Given the description of an element on the screen output the (x, y) to click on. 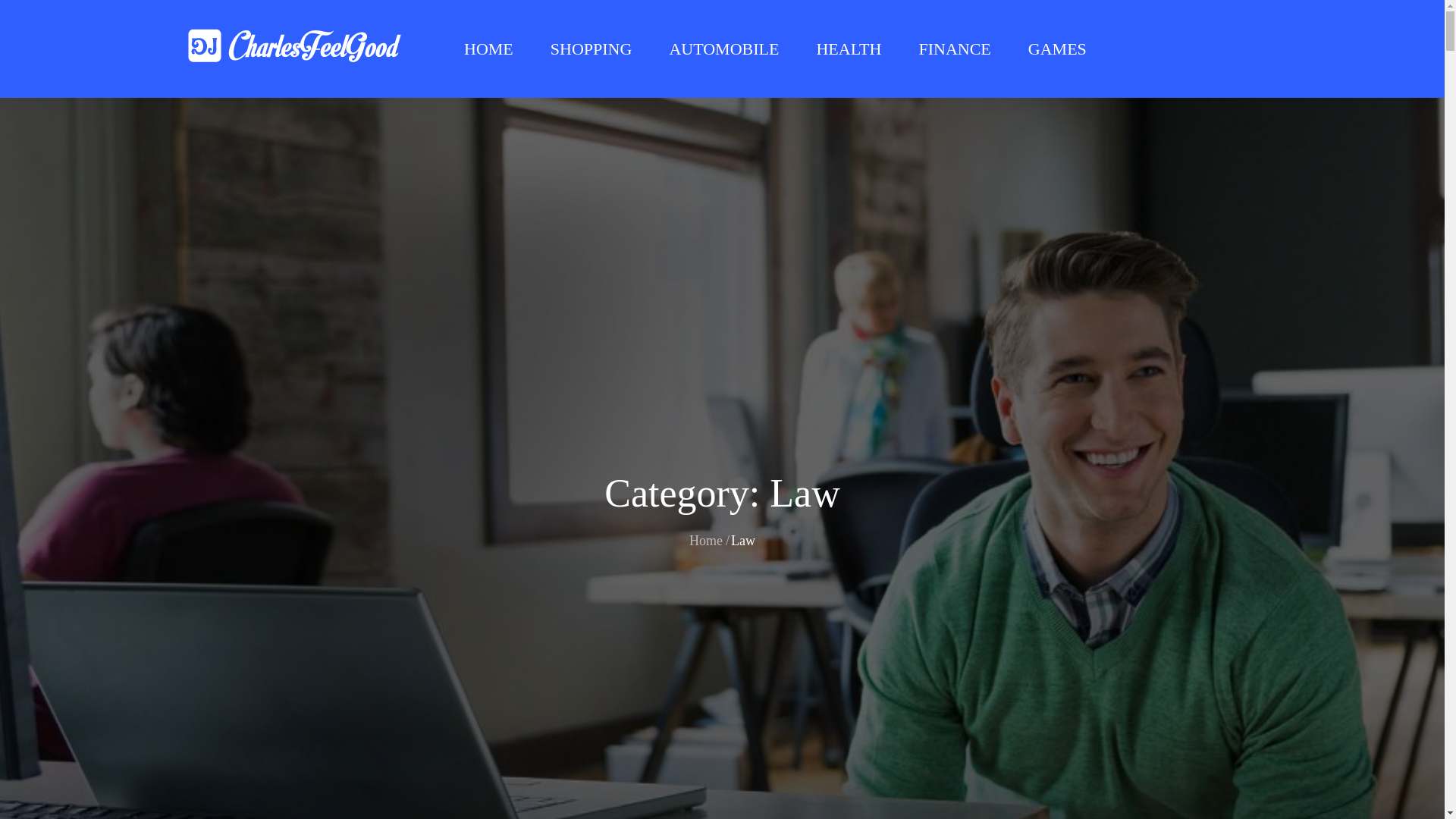
Home (705, 540)
AUTOMOBILE (723, 48)
GAMES (1057, 48)
HOME (488, 48)
SHOPPING (591, 48)
Dj Charles Feel Good (527, 60)
HEALTH (847, 48)
FINANCE (953, 48)
